Given the description of an element on the screen output the (x, y) to click on. 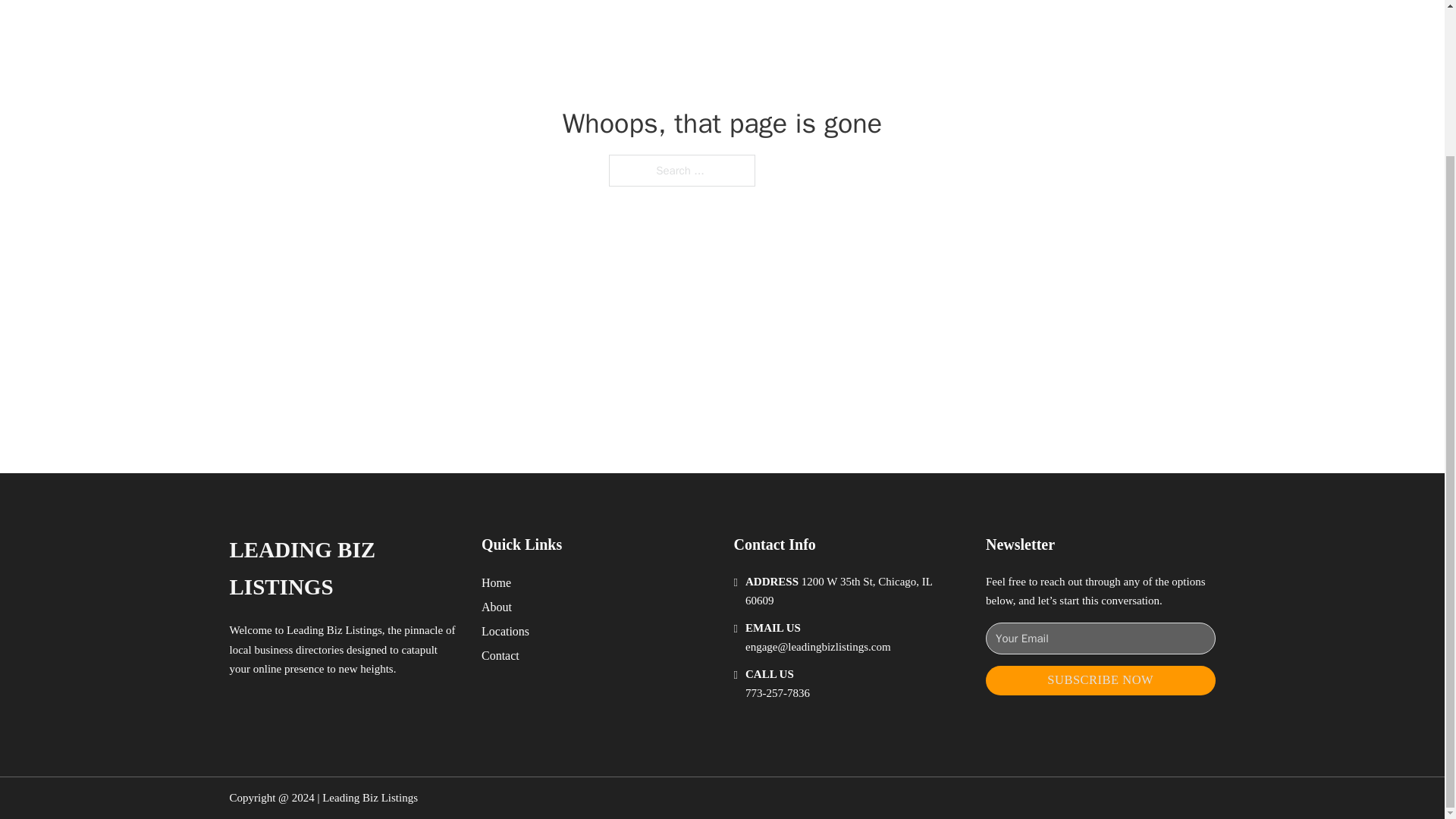
About (496, 607)
LEADING BIZ LISTINGS (343, 568)
SUBSCRIBE NOW (1100, 680)
773-257-7836 (777, 693)
Home (496, 582)
Contact (500, 655)
Locations (505, 630)
